Given the description of an element on the screen output the (x, y) to click on. 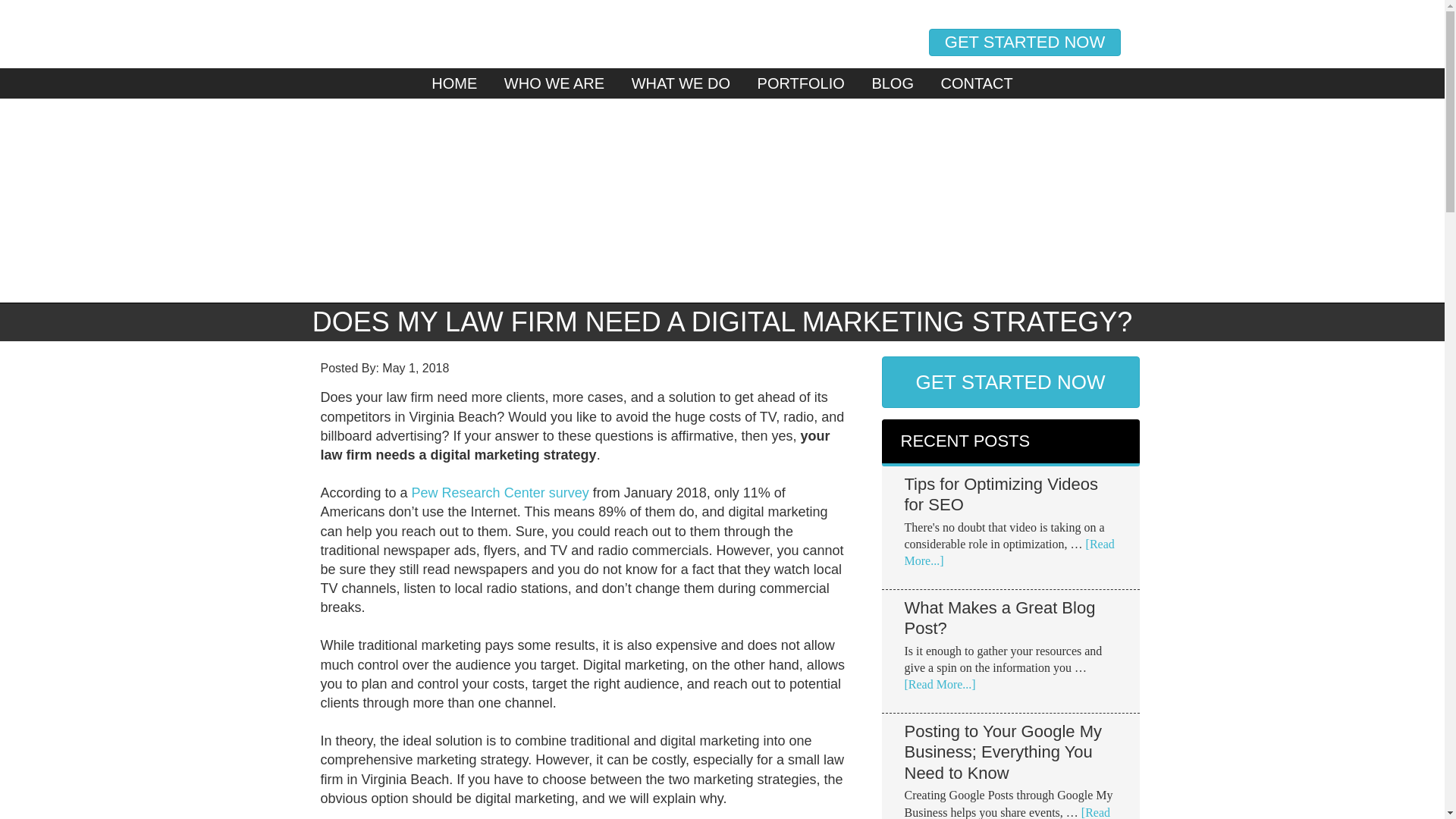
Tips for Optimizing Videos for SEO (1000, 495)
CONTACT (977, 82)
GET STARTED NOW (1009, 381)
Pew Research Center survey (500, 492)
Lawyer TV Commercials Randy Nordstorm (622, 35)
PORTFOLIO (800, 83)
WHO WE ARE (554, 83)
WHAT WE DO (680, 83)
What Makes a Great Blog Post? (999, 618)
